Given the description of an element on the screen output the (x, y) to click on. 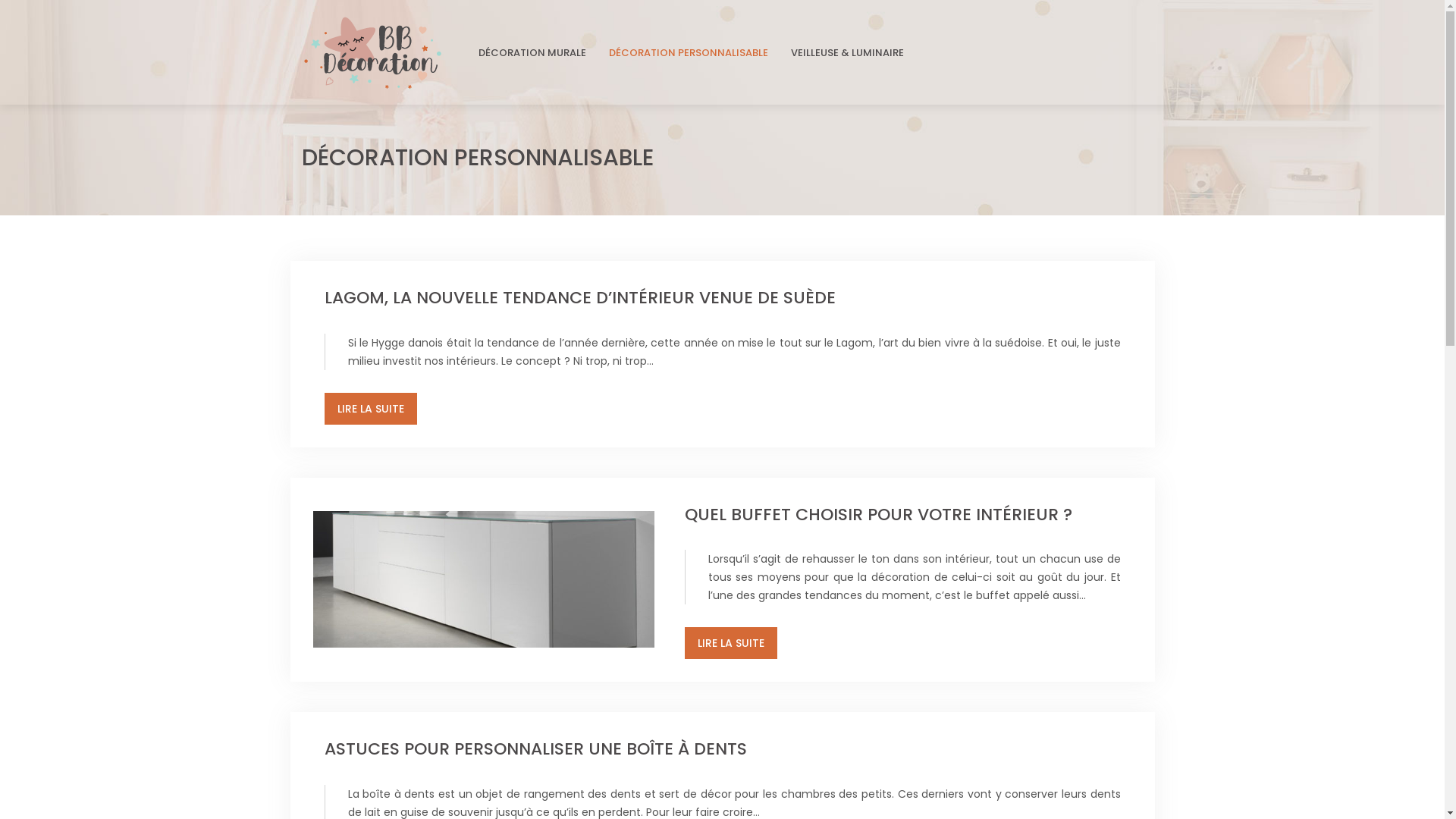
LIRE LA SUITE Element type: text (370, 408)
VEILLEUSE & LUMINAIRE Element type: text (846, 52)
LIRE LA SUITE Element type: text (730, 642)
